Given the description of an element on the screen output the (x, y) to click on. 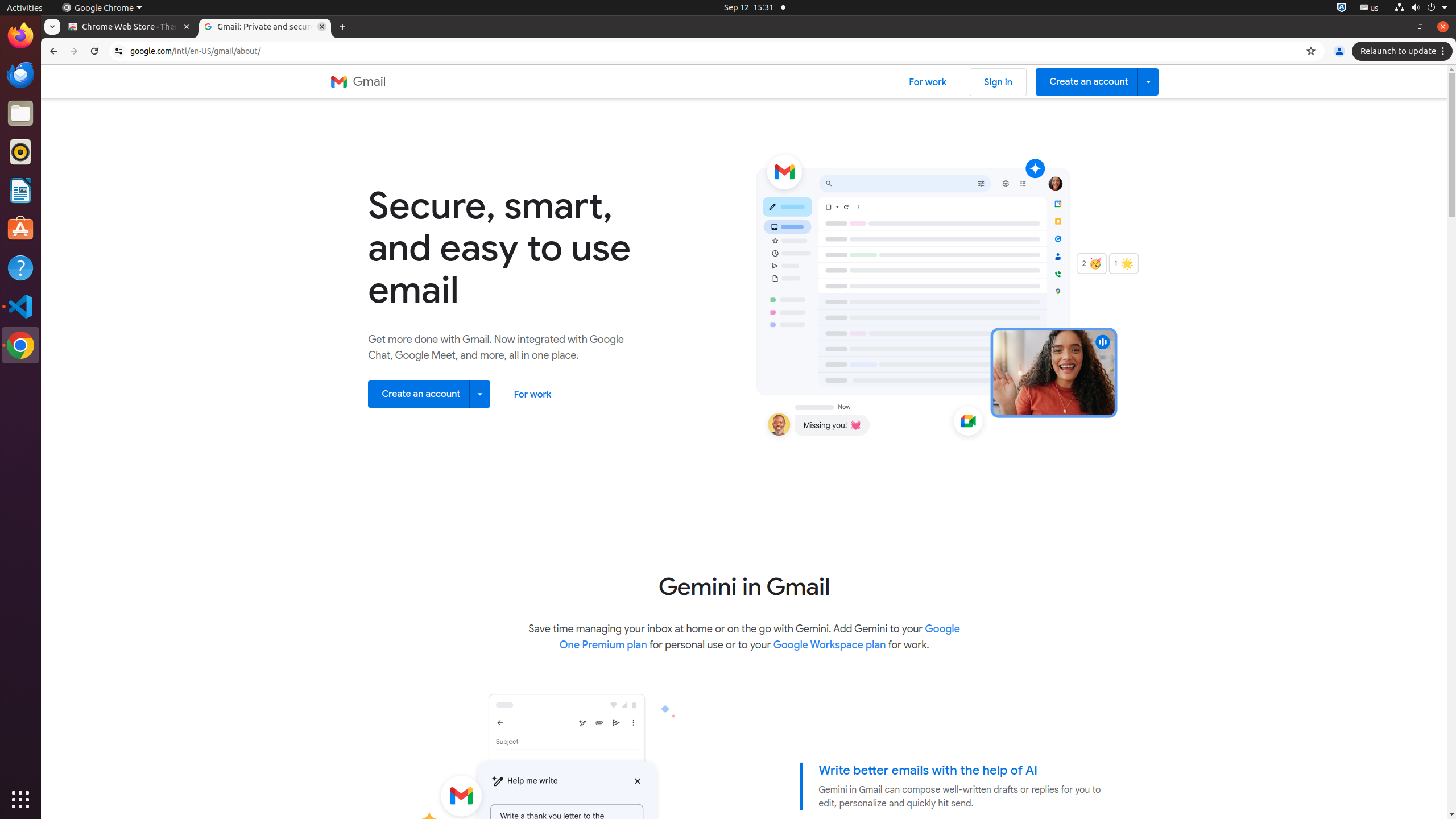
Help Element type: push-button (20, 267)
Firefox Web Browser Element type: push-button (20, 35)
Rhythmbox Element type: push-button (20, 151)
Ubuntu Software Element type: push-button (20, 229)
System Element type: menu (1420, 7)
